Given the description of an element on the screen output the (x, y) to click on. 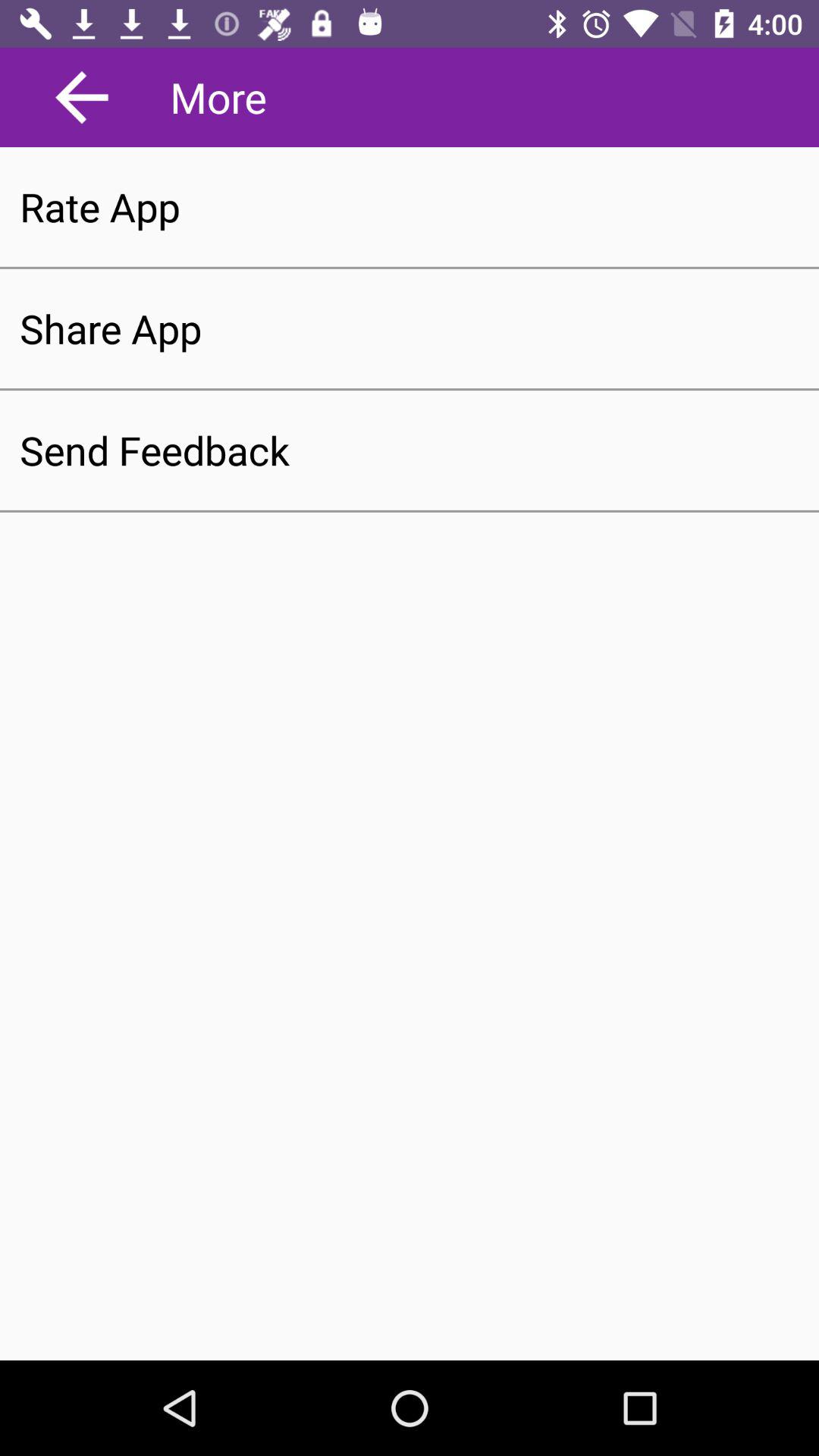
turn off app to the left of more app (81, 97)
